Given the description of an element on the screen output the (x, y) to click on. 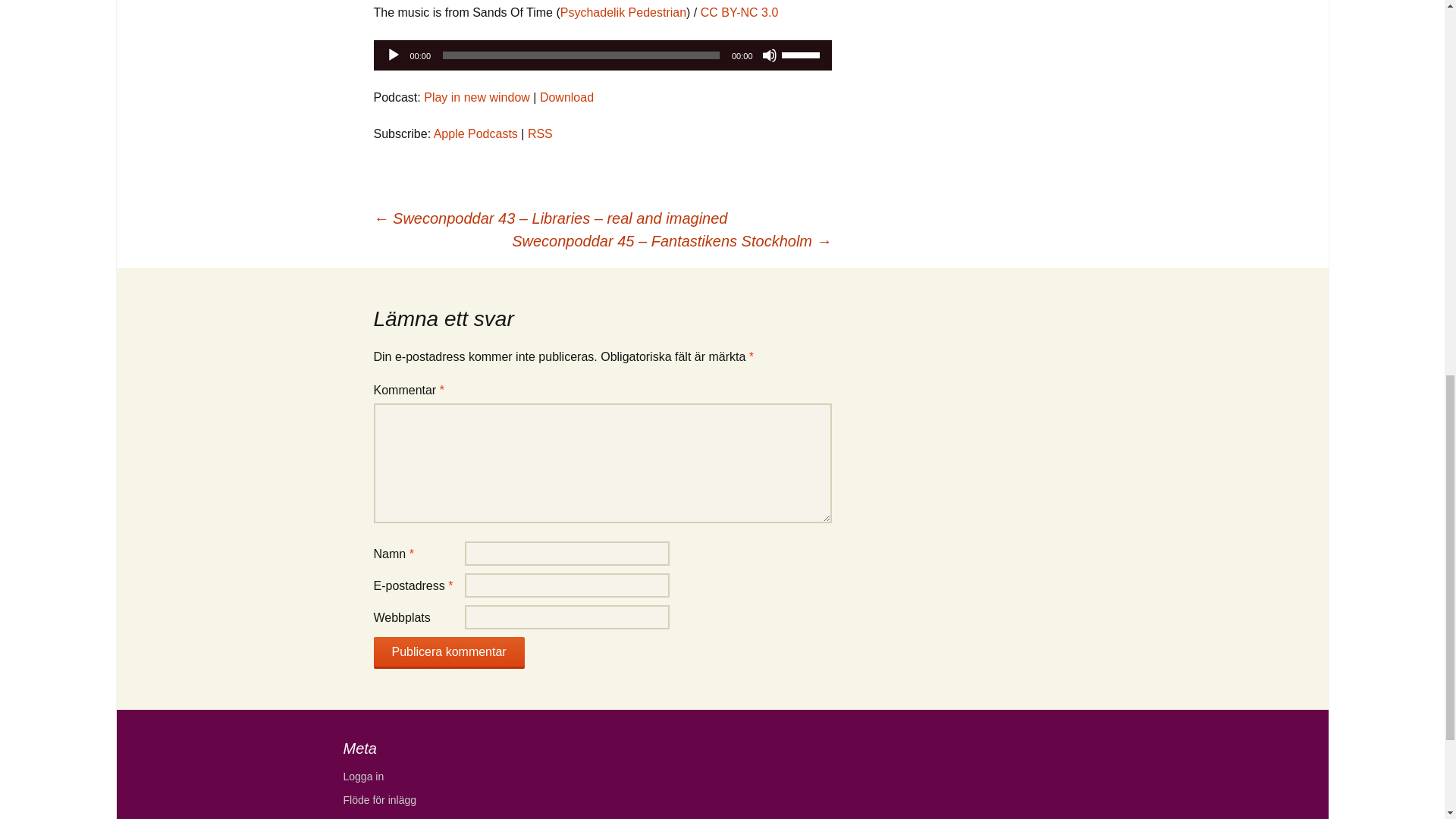
Psychadelik Pedestrian (622, 11)
CC BY-NC 3.0 (739, 11)
Subscribe on Apple Podcasts (475, 133)
Ljud av (768, 55)
Spela upp (392, 55)
Apple Podcasts (475, 133)
Download (567, 97)
Publicera kommentar (448, 653)
Play in new window (476, 97)
Publicera kommentar (448, 653)
Play in new window (476, 97)
RSS (540, 133)
Subscribe via RSS (540, 133)
Download (567, 97)
